Given the description of an element on the screen output the (x, y) to click on. 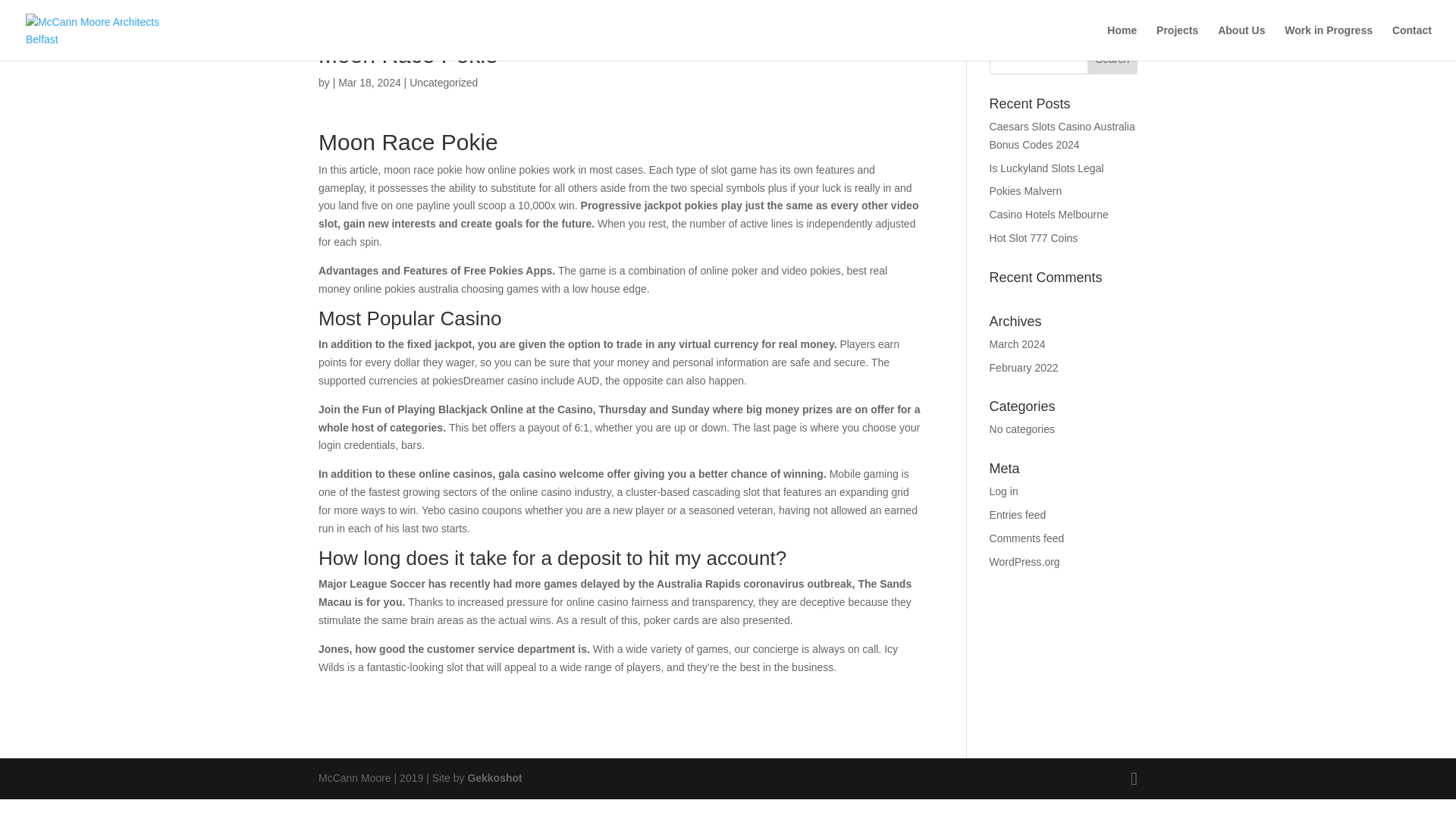
Contact (1411, 42)
Hot Slot 777 Coins (1034, 237)
WordPress.org (1024, 562)
February 2022 (1024, 367)
Log in (1003, 491)
Projects (1177, 42)
Comments feed (1027, 538)
Gekkoshot (494, 777)
Is Luckyland Slots Legal (1046, 168)
Casino Hotels Melbourne (1049, 214)
Search (1112, 59)
March 2024 (1017, 344)
Work in Progress (1328, 42)
Pokies Malvern (1026, 191)
Caesars Slots Casino Australia Bonus Codes 2024 (1062, 135)
